Given the description of an element on the screen output the (x, y) to click on. 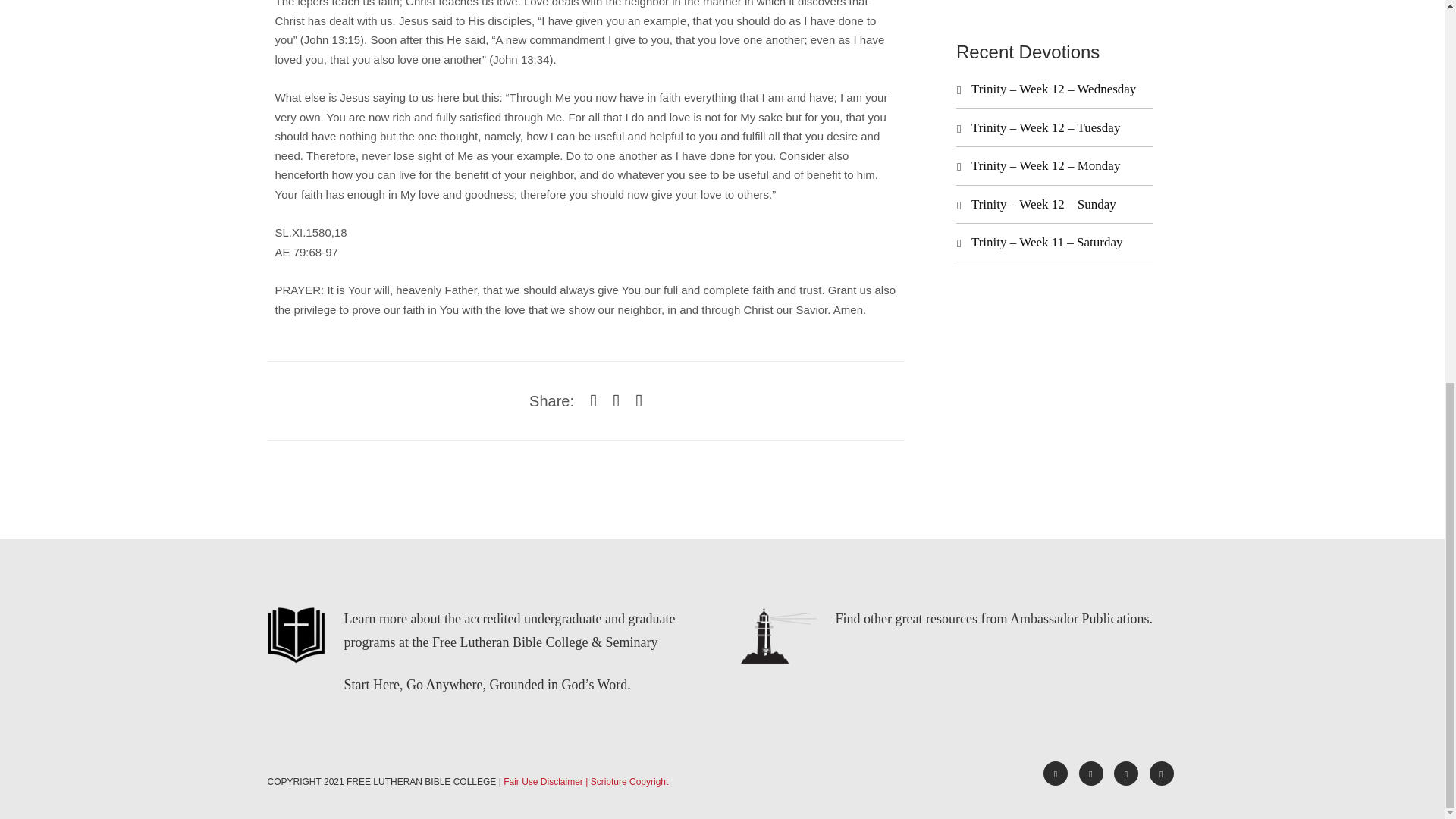
Email (1161, 773)
Learn more (375, 618)
Twitter (1090, 773)
Facebook (1055, 773)
Instagram (1125, 773)
